Given the description of an element on the screen output the (x, y) to click on. 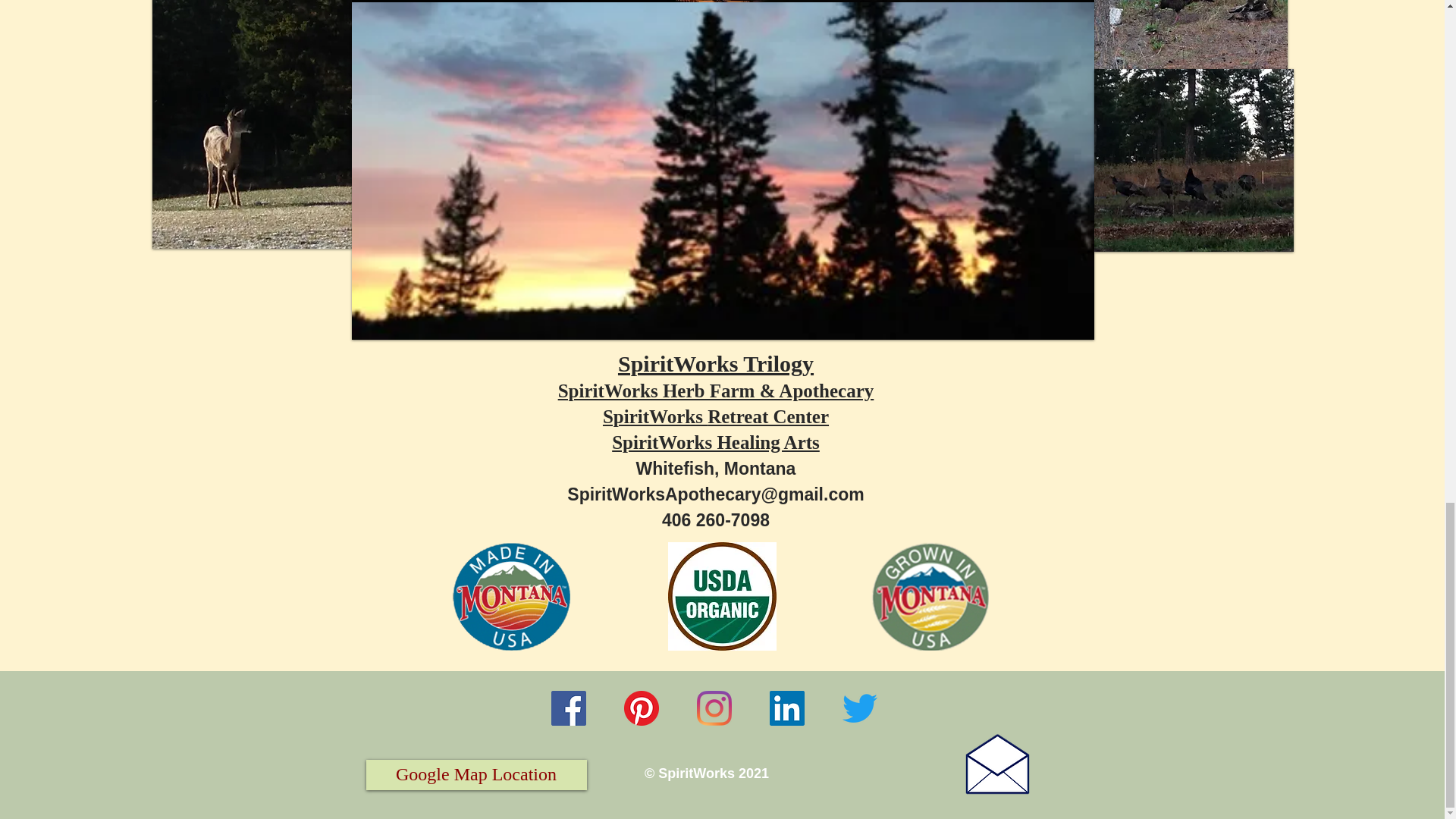
Google Map Location (475, 775)
Retreat Center (767, 416)
SpiritWorks Trilogy (715, 363)
SpiritWorks  (654, 416)
SpiritWorks Healing Arts (719, 455)
